Given the description of an element on the screen output the (x, y) to click on. 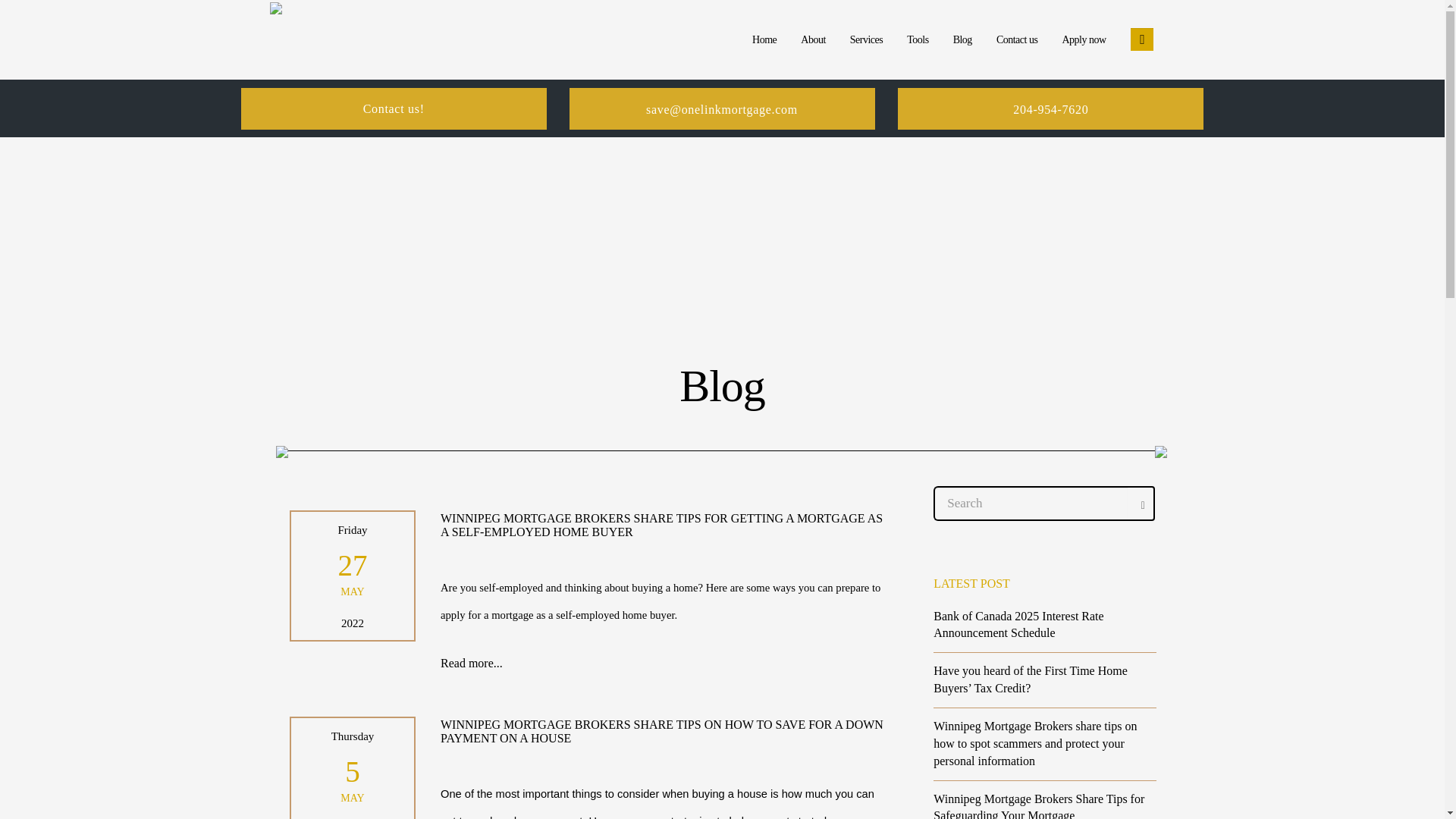
Bank of Canada 2025 Interest Rate Announcement Schedule (1018, 624)
204-954-7620 (1050, 109)
Contact us (1016, 39)
Services (866, 39)
Apply now (1083, 39)
Read more... (471, 663)
